Given the description of an element on the screen output the (x, y) to click on. 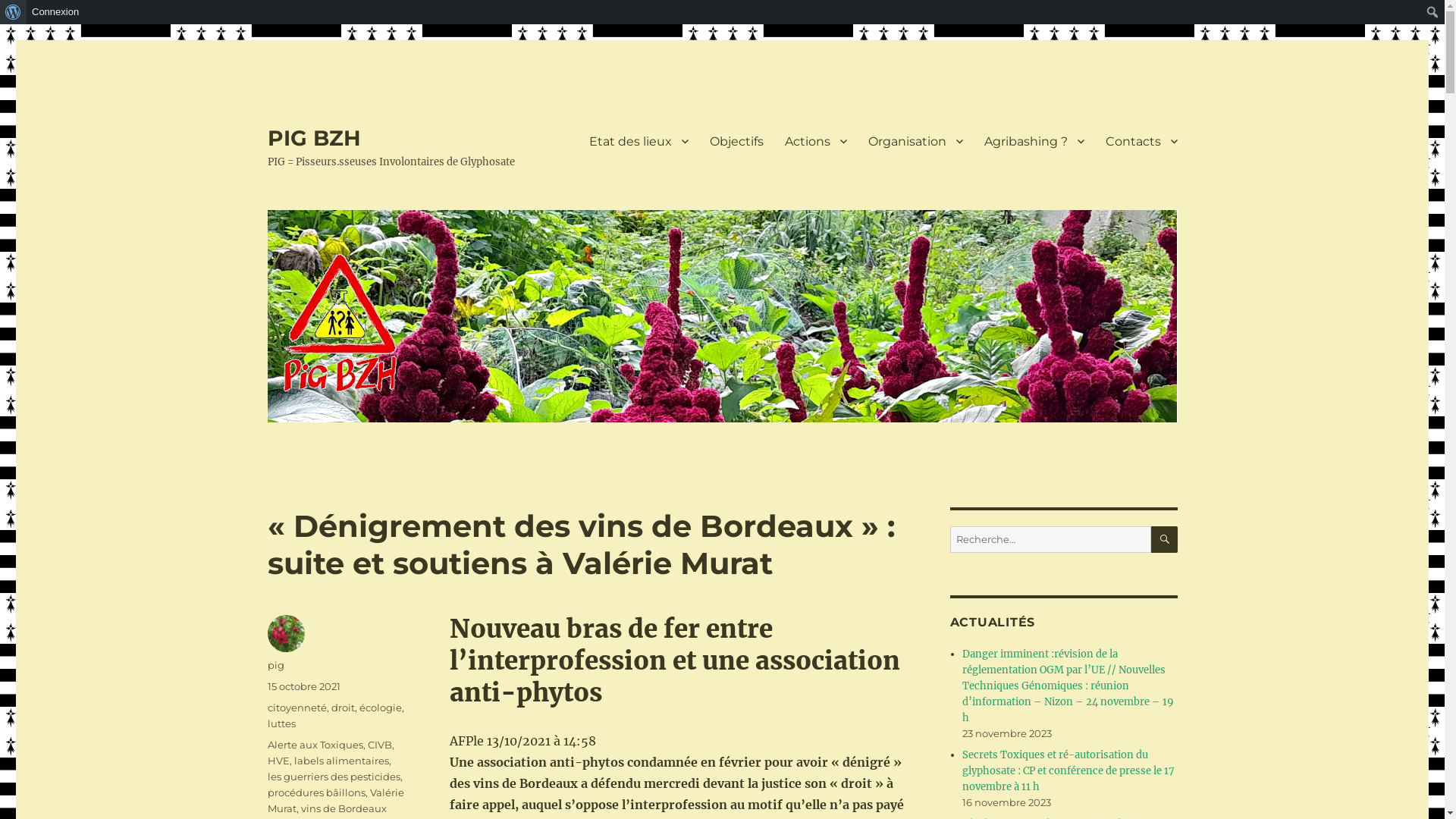
HVE Element type: text (277, 760)
Organisation Element type: text (914, 140)
luttes Element type: text (280, 723)
pig Element type: text (274, 664)
labels alimentaires Element type: text (341, 760)
les guerriers des pesticides Element type: text (332, 776)
CIVB Element type: text (379, 744)
Alerte aux Toxiques Element type: text (314, 744)
Objectifs Element type: text (736, 140)
PIG BZH Element type: text (313, 137)
Etat des lieux Element type: text (637, 140)
droit Element type: text (342, 707)
vins de Bordeaux Element type: text (342, 808)
Contacts Element type: text (1141, 140)
Agribashing ? Element type: text (1034, 140)
Rechercher Element type: text (11, 12)
15 octobre 2021 Element type: text (302, 686)
Connexion Element type: text (55, 12)
RECHERCHE Element type: text (1164, 539)
Actions Element type: text (814, 140)
